Given the description of an element on the screen output the (x, y) to click on. 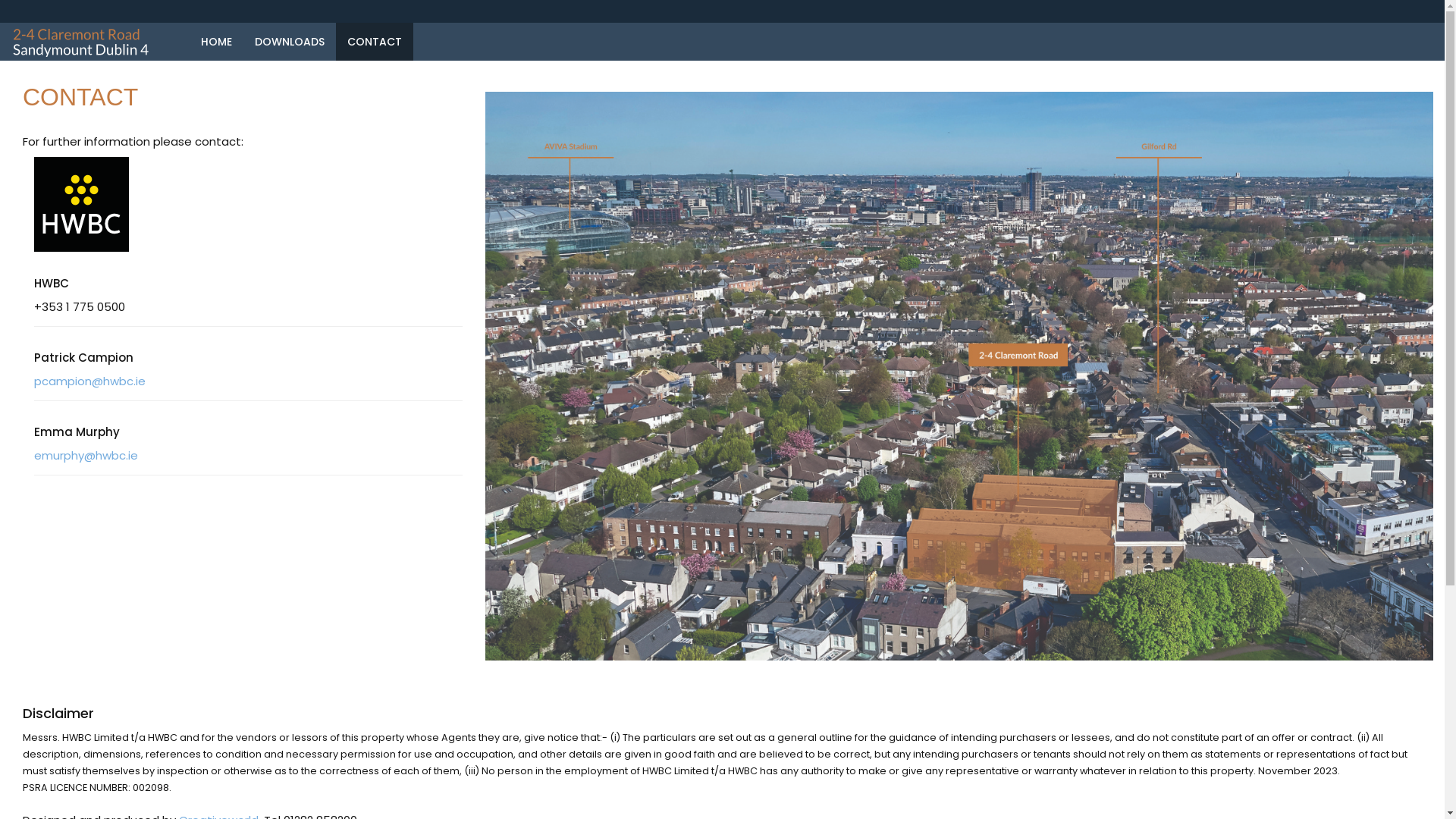
CONTACT Element type: text (374, 41)
DOWNLOADS Element type: text (289, 41)
emurphy@hwbc.ie Element type: text (86, 455)
pcampion@hwbc.ie Element type: text (89, 381)
HOME Element type: text (216, 41)
